Given the description of an element on the screen output the (x, y) to click on. 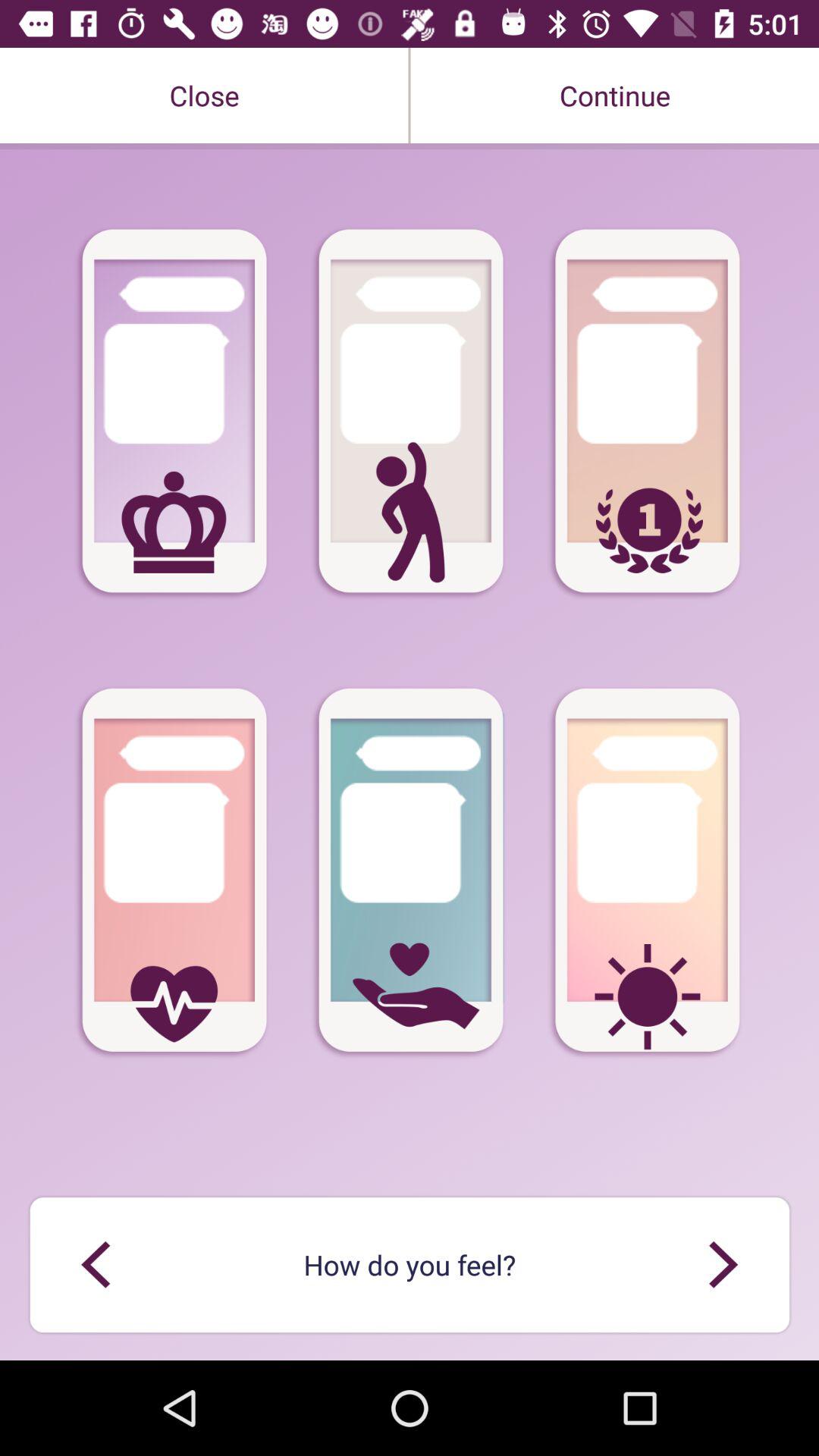
go to next page (723, 1264)
